Given the description of an element on the screen output the (x, y) to click on. 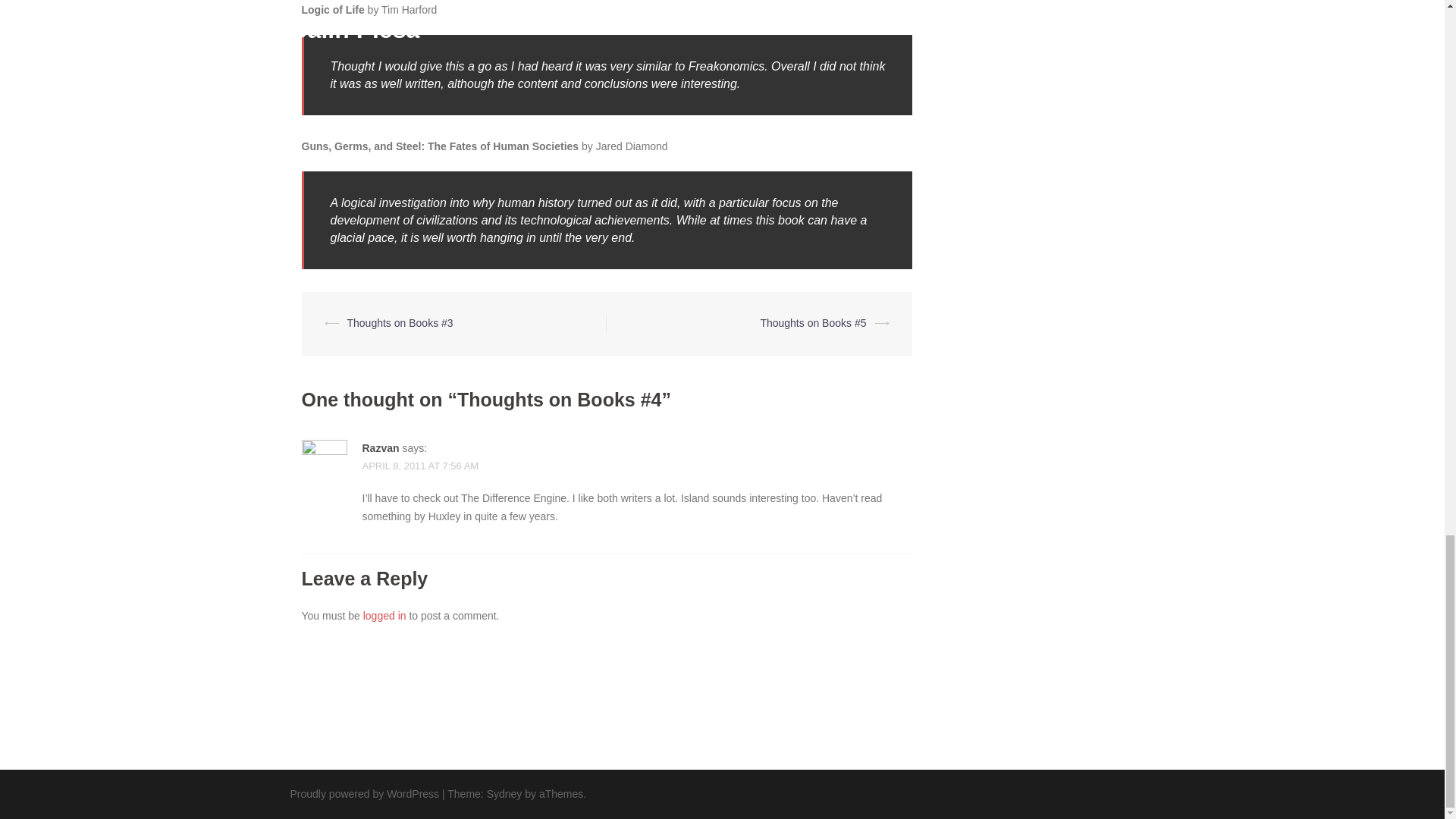
Sydney (504, 793)
APRIL 8, 2011 AT 7:56 AM (420, 465)
logged in (384, 615)
Proudly powered by WordPress (364, 793)
Razvan (380, 448)
